Given the description of an element on the screen output the (x, y) to click on. 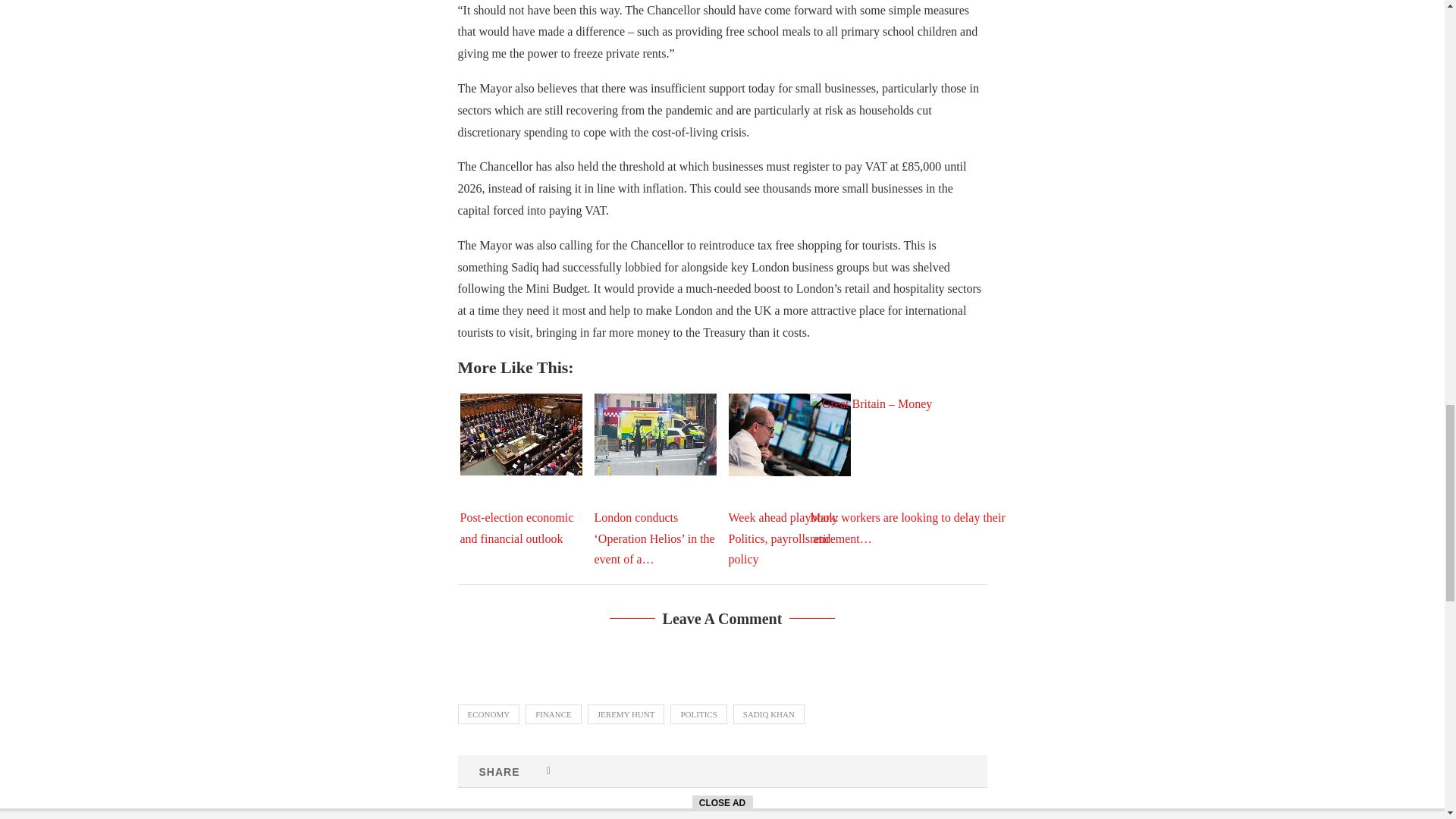
Week ahead playbook: Politics, payrolls and policy (789, 434)
Post-election economic and financial outlook (520, 434)
